Given the description of an element on the screen output the (x, y) to click on. 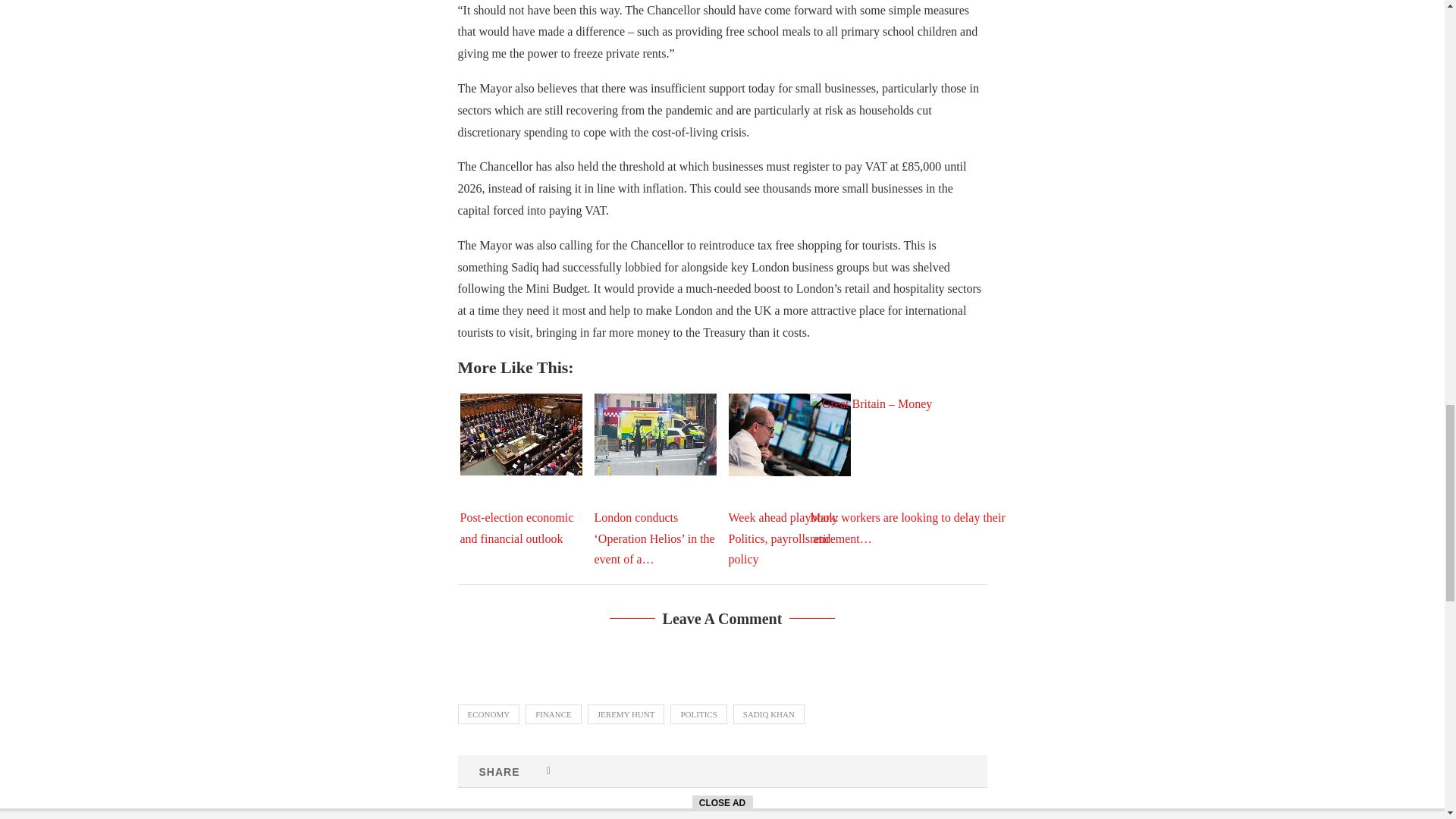
Week ahead playbook: Politics, payrolls and policy (789, 434)
Post-election economic and financial outlook (520, 434)
